Given the description of an element on the screen output the (x, y) to click on. 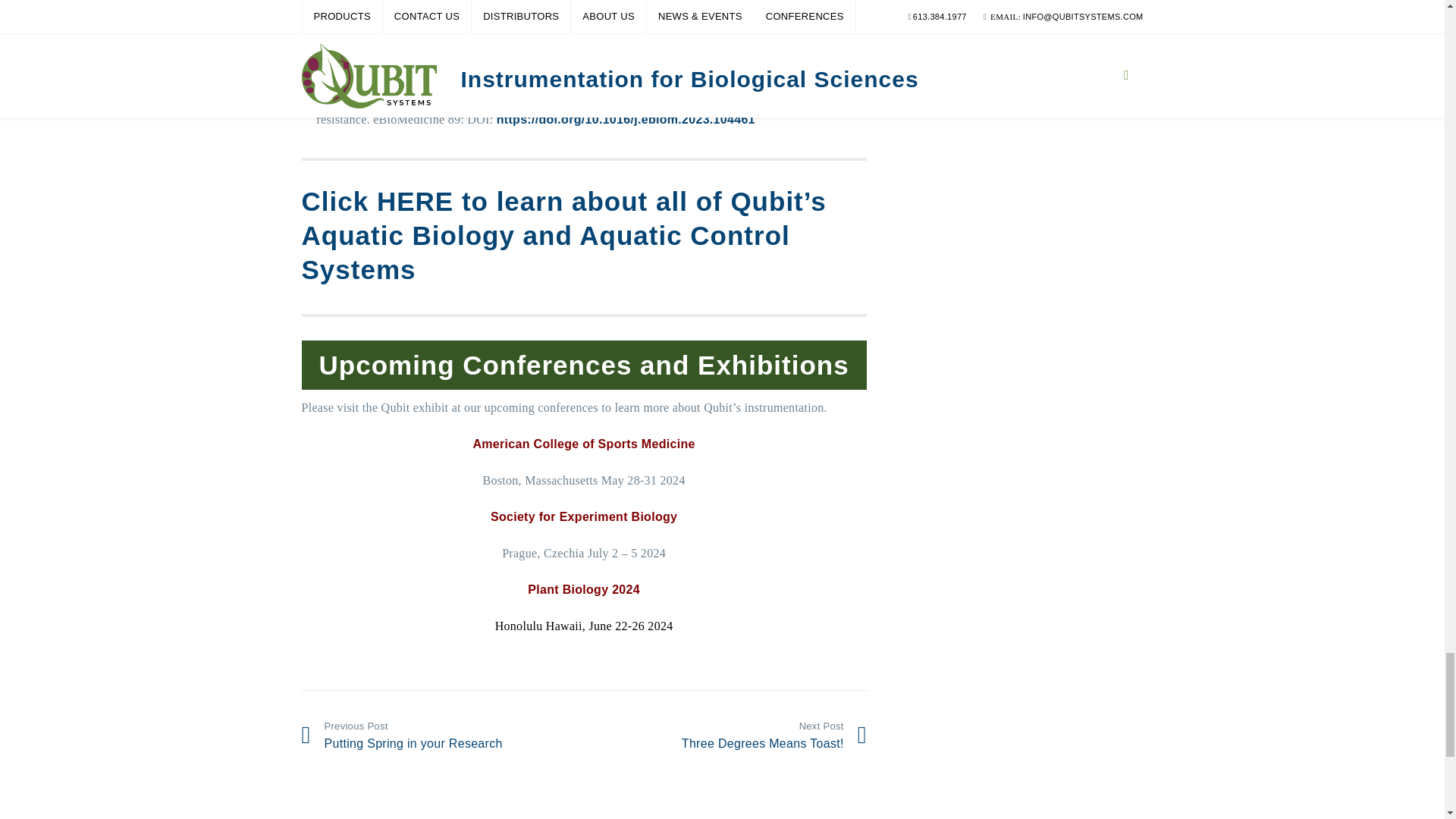
HERE (414, 201)
Putting Spring in your Research (437, 734)
Three Degrees Means Toast! (730, 734)
